Given the description of an element on the screen output the (x, y) to click on. 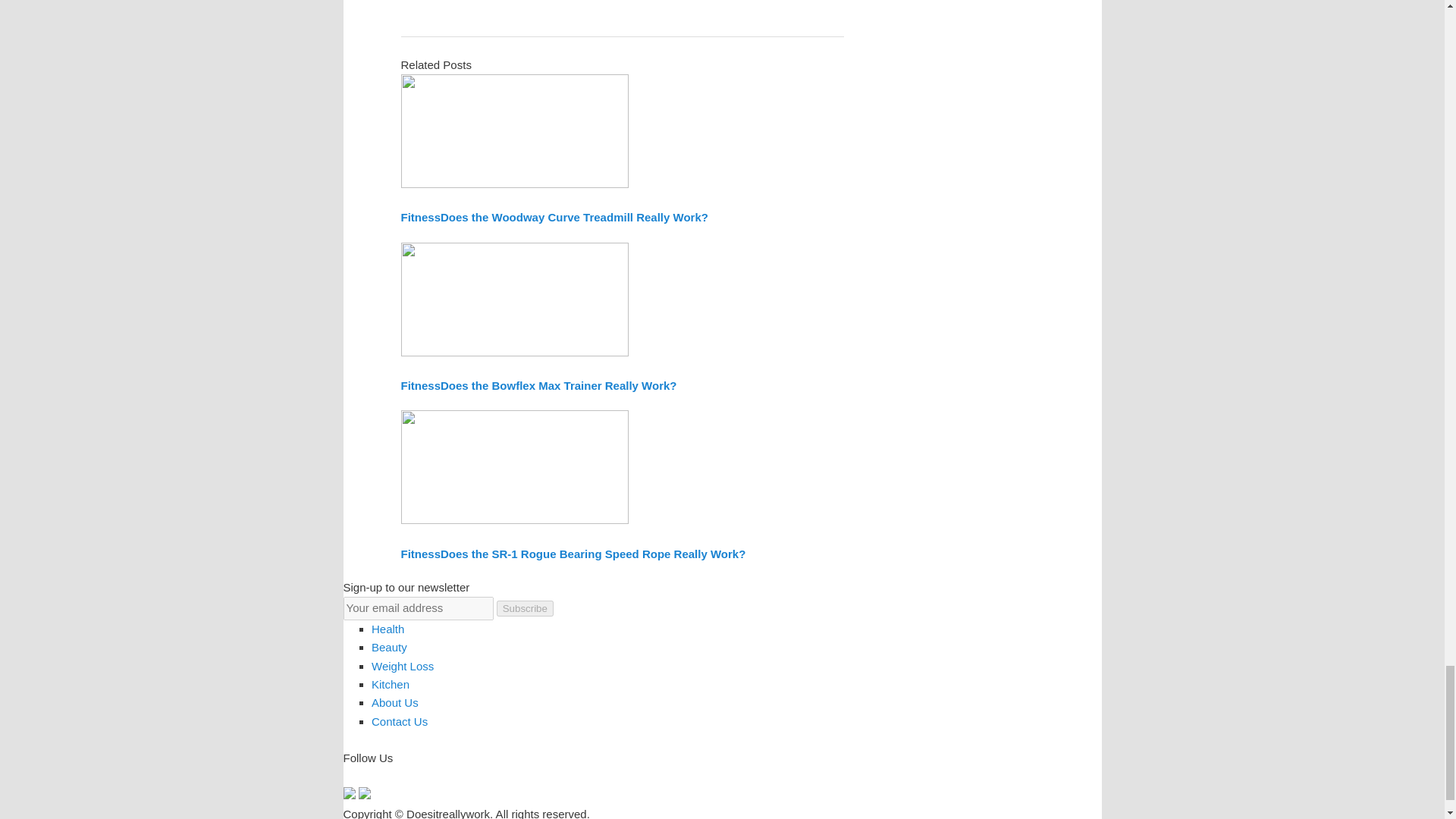
Health (387, 628)
Does the SR-1 Rogue Bearing Speed Rope Really Work? (593, 553)
Subscribe (524, 608)
Does the Woodway Curve Treadmill Really Work? (574, 216)
Fitness (420, 553)
Fitness (420, 216)
Does the Bowflex Max Trainer Really Work? (559, 385)
Fitness (420, 385)
